Given the description of an element on the screen output the (x, y) to click on. 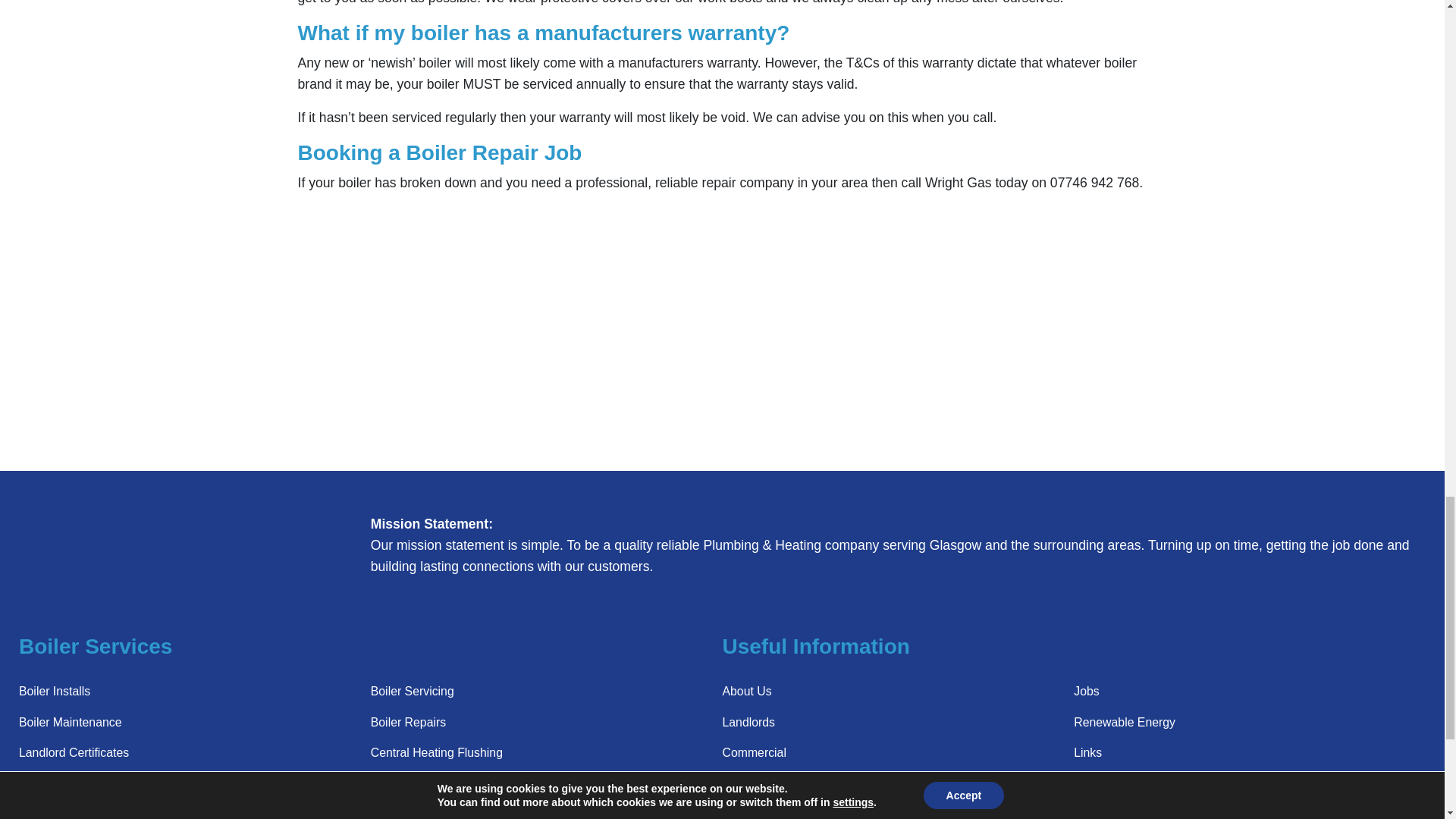
07746 942 768. (1095, 182)
Boiler Installs (54, 690)
boiler brand (717, 73)
Boiler Maintenance (70, 721)
